Given the description of an element on the screen output the (x, y) to click on. 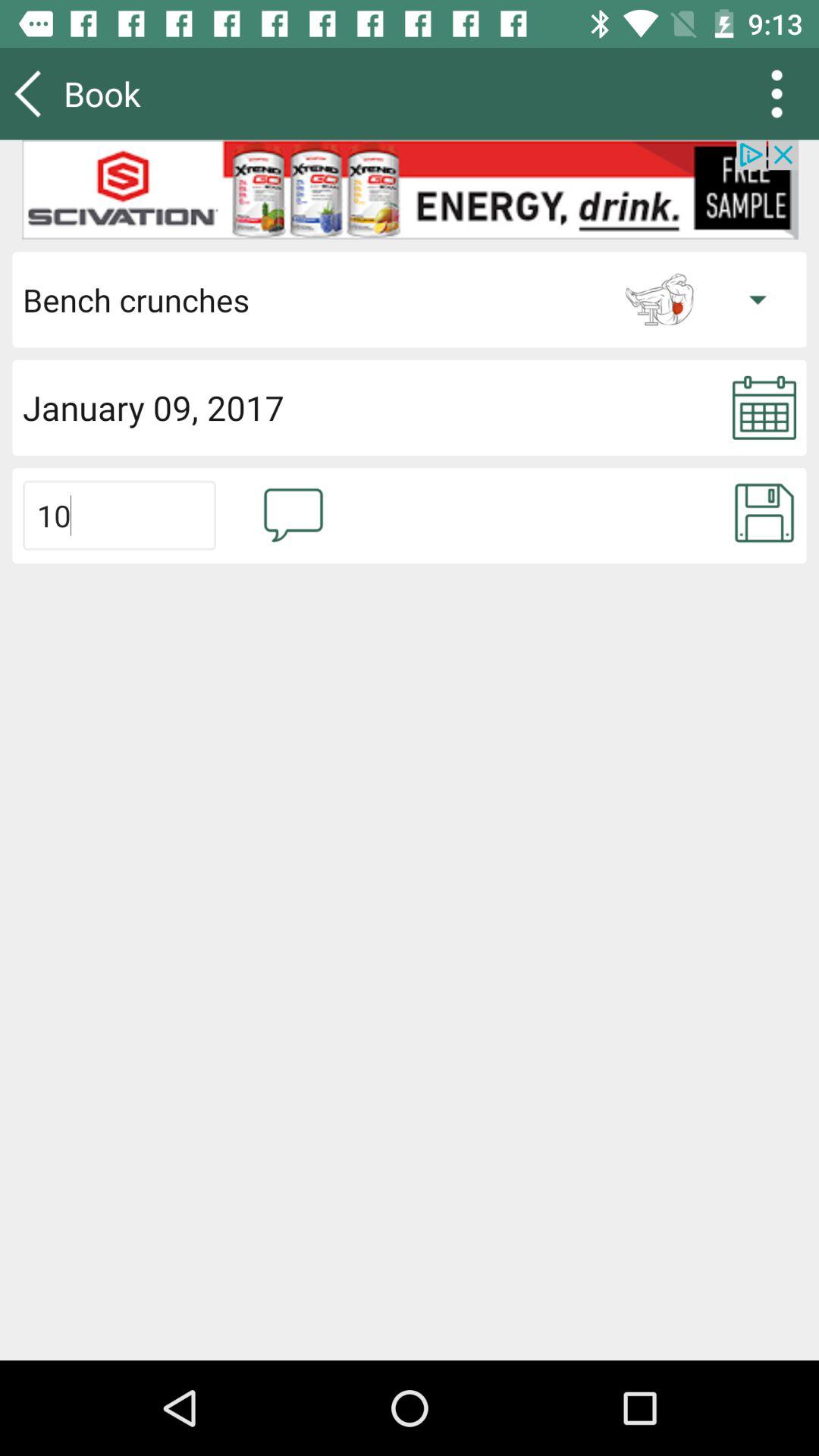
banner advertisement (409, 189)
